Given the description of an element on the screen output the (x, y) to click on. 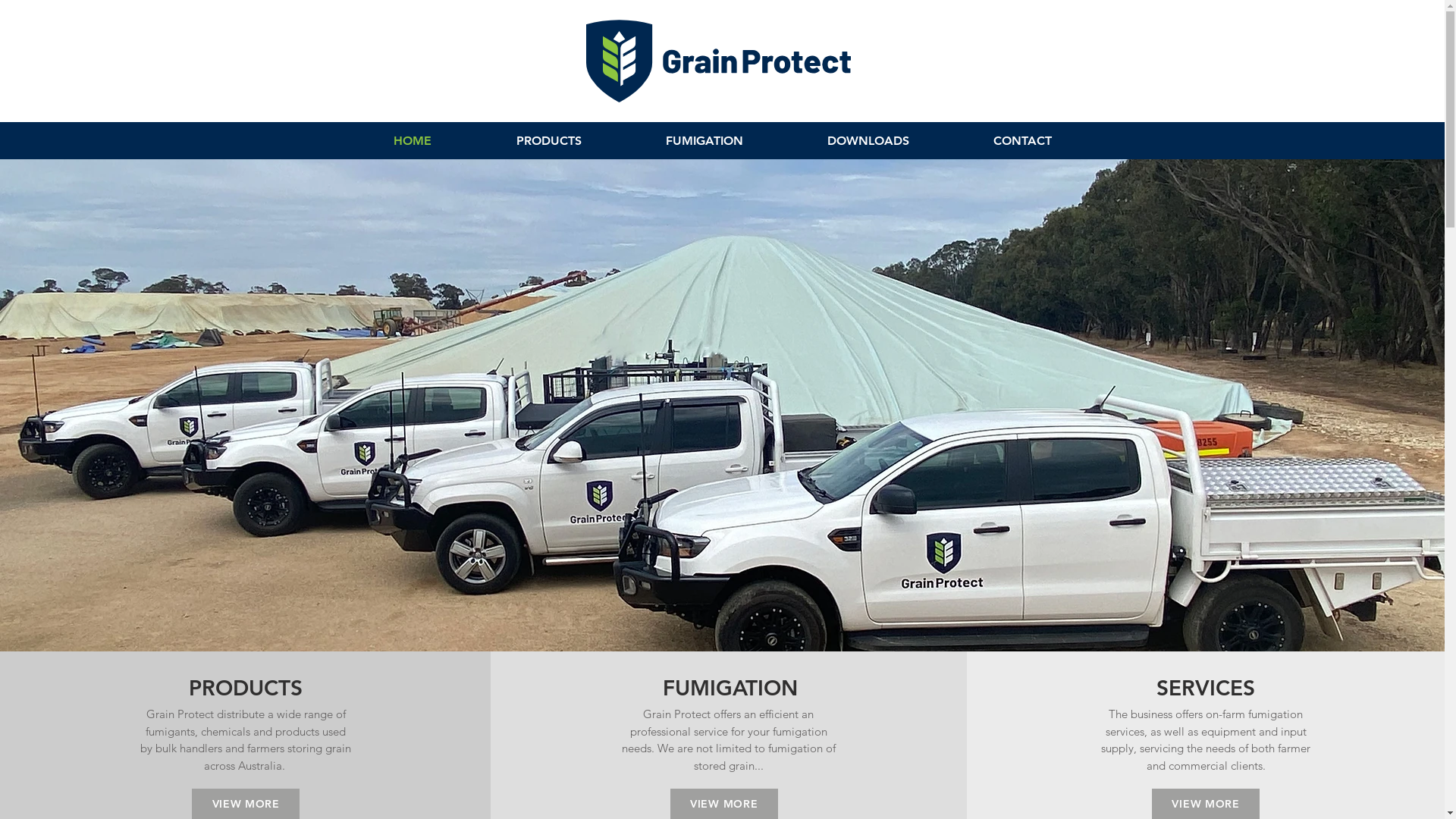
SERVICES Element type: text (1205, 687)
HOME Element type: text (411, 140)
PRODUCTS Element type: text (548, 140)
DOWNLOADS Element type: text (868, 140)
FUMIGATION Element type: text (703, 140)
PRODUCTS Element type: text (245, 687)
CONTACT Element type: text (1021, 140)
FUMIGATION Element type: text (729, 687)
